Given the description of an element on the screen output the (x, y) to click on. 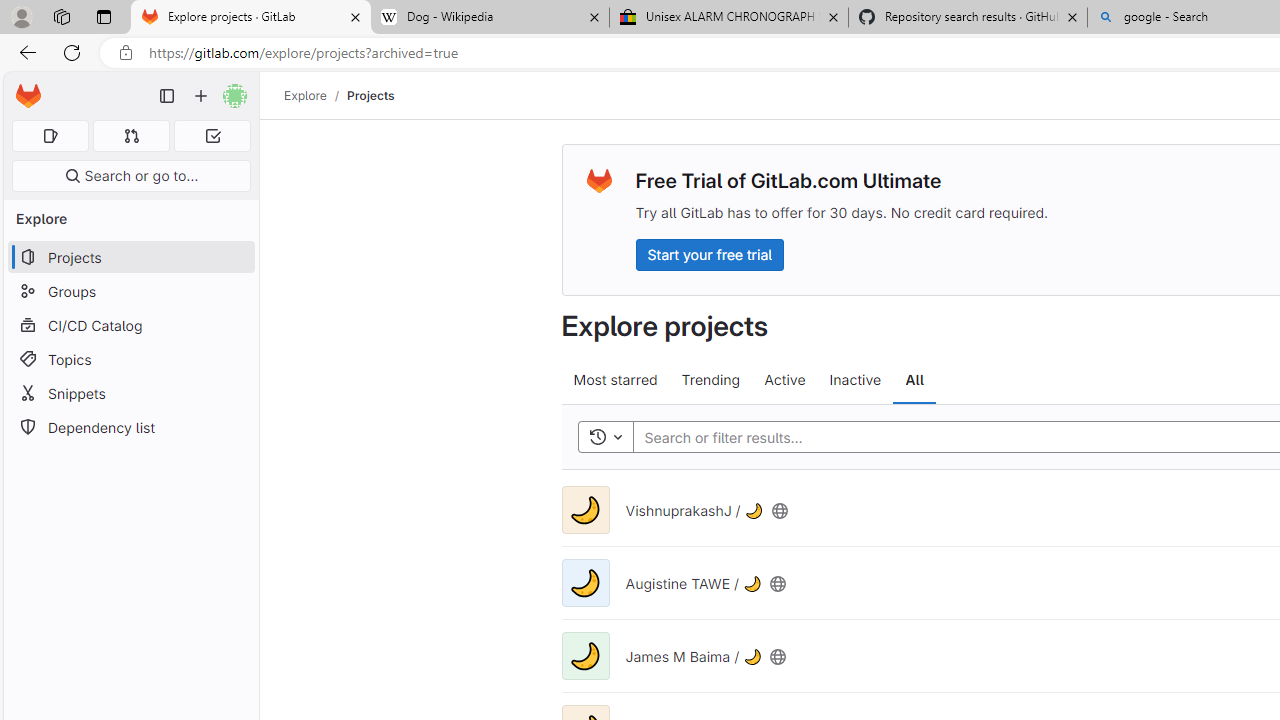
Groups (130, 291)
